Given the description of an element on the screen output the (x, y) to click on. 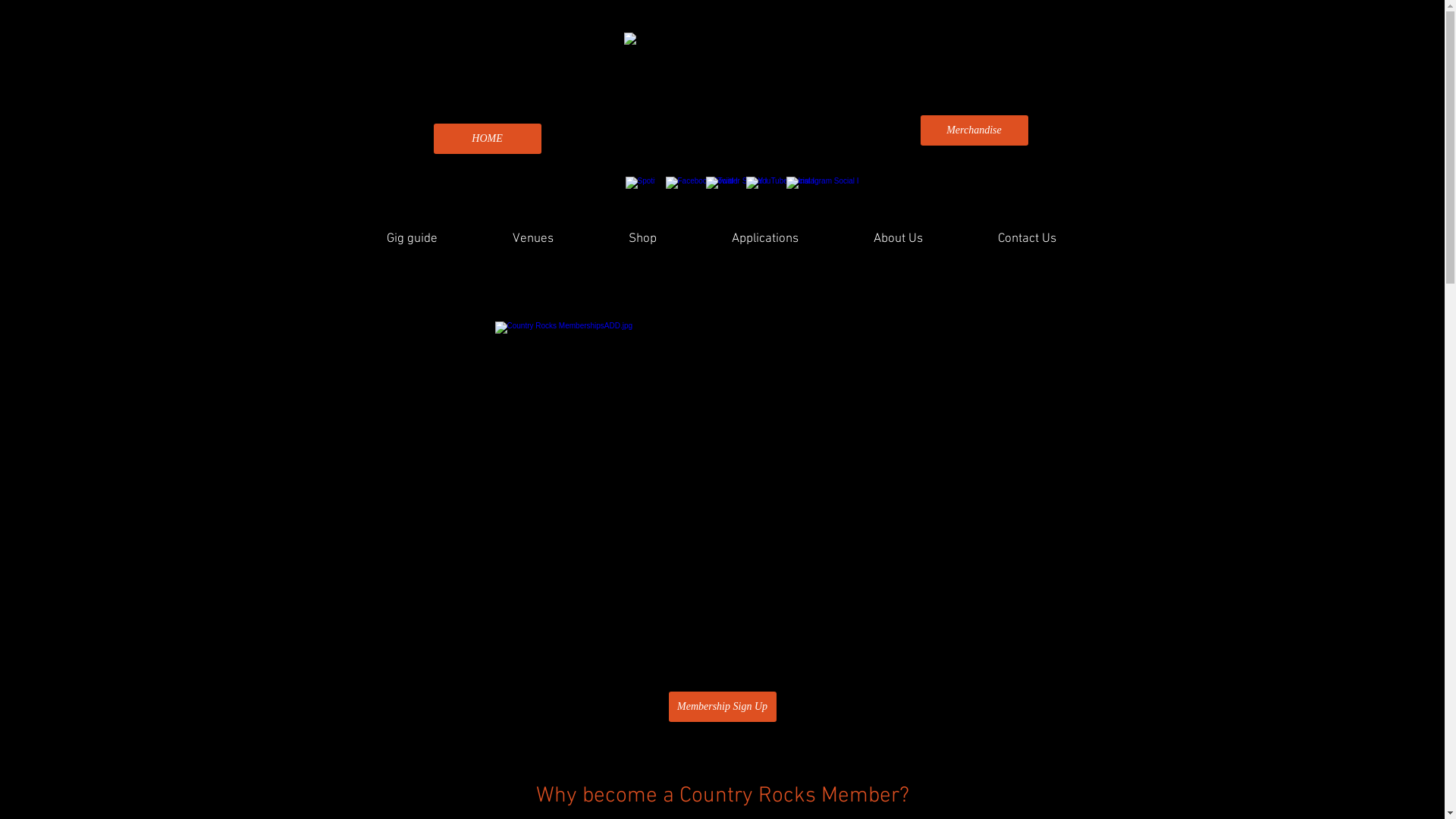
Venues Element type: text (532, 238)
Merchandise Element type: text (974, 130)
HOME Element type: text (487, 138)
Applications Element type: text (765, 238)
Contact Us Element type: text (1026, 238)
Gig guide Element type: text (411, 238)
Shop Element type: text (642, 238)
Membership Sign Up Element type: text (722, 706)
About Us Element type: text (897, 238)
